Given the description of an element on the screen output the (x, y) to click on. 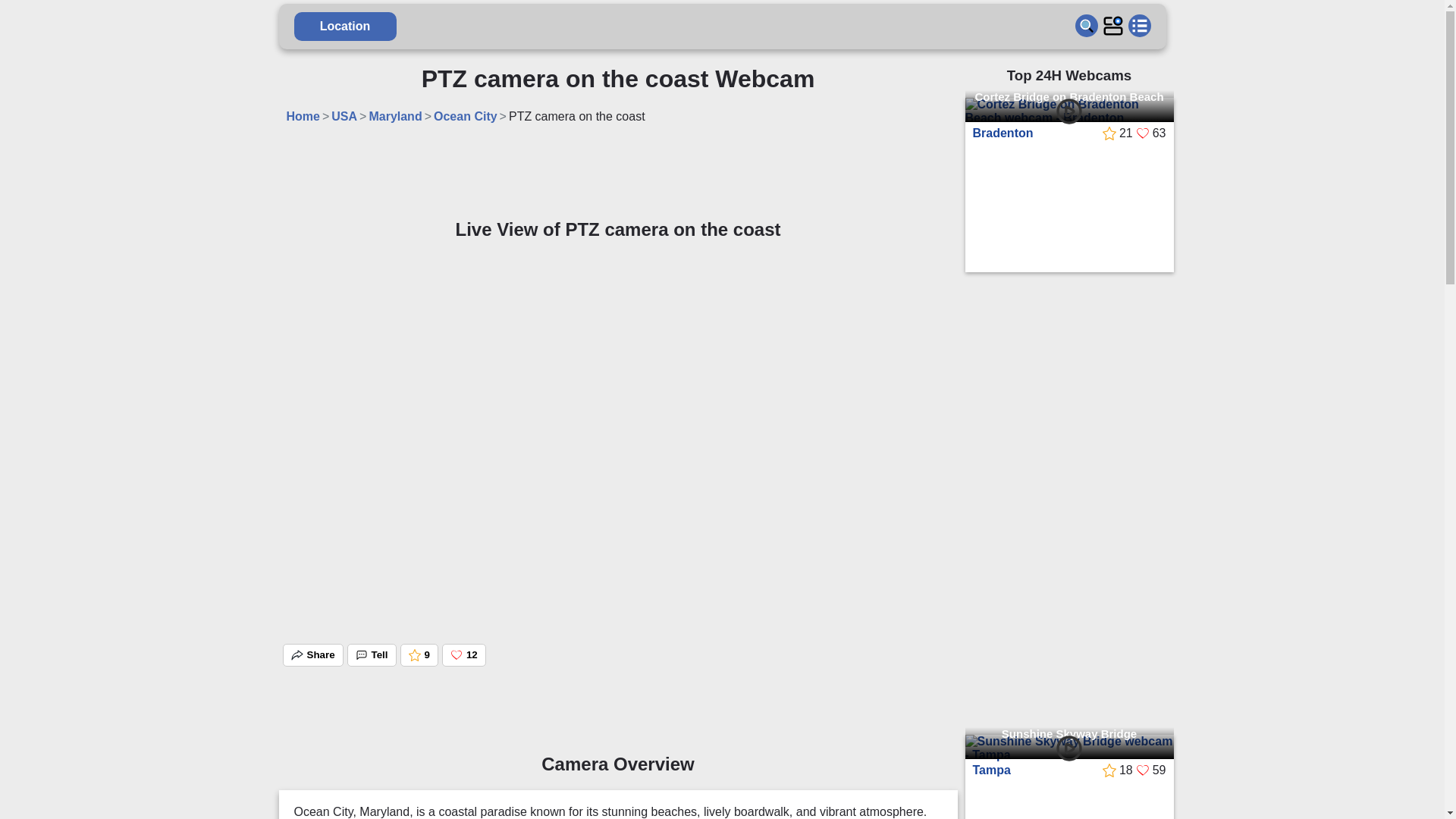
Maryland (307, 123)
Location (257, 26)
Ocean City (378, 123)
Home (214, 123)
USA (256, 123)
